Given the description of an element on the screen output the (x, y) to click on. 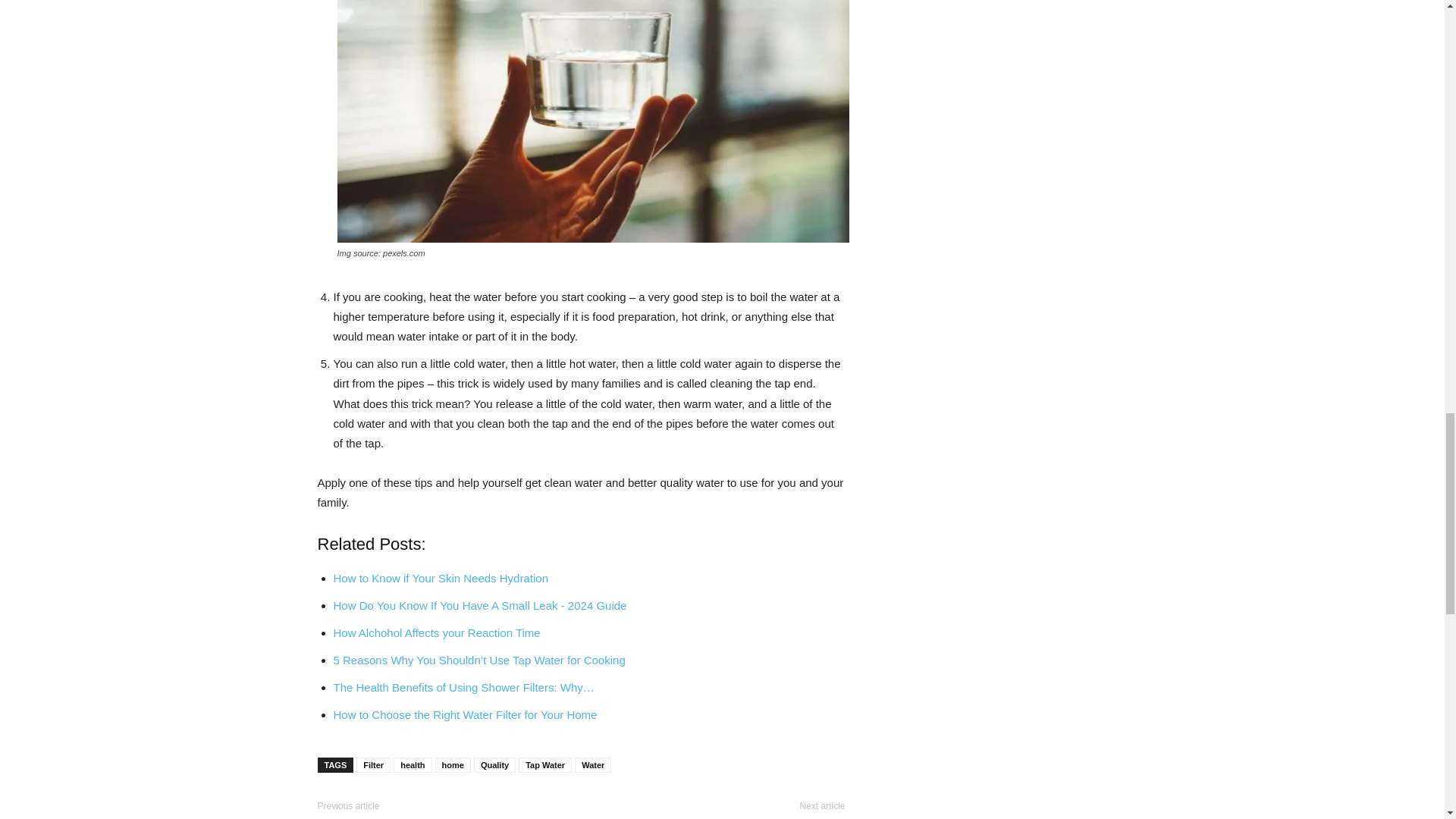
How Do You Know If You Have A Small Leak - 2024 Guide (480, 604)
Filter (373, 765)
How Alchohol Affects your Reaction Time (436, 632)
How to Know if Your Skin Needs Hydration (440, 577)
How to Choose the Right Water Filter for Your Home (464, 714)
